Given the description of an element on the screen output the (x, y) to click on. 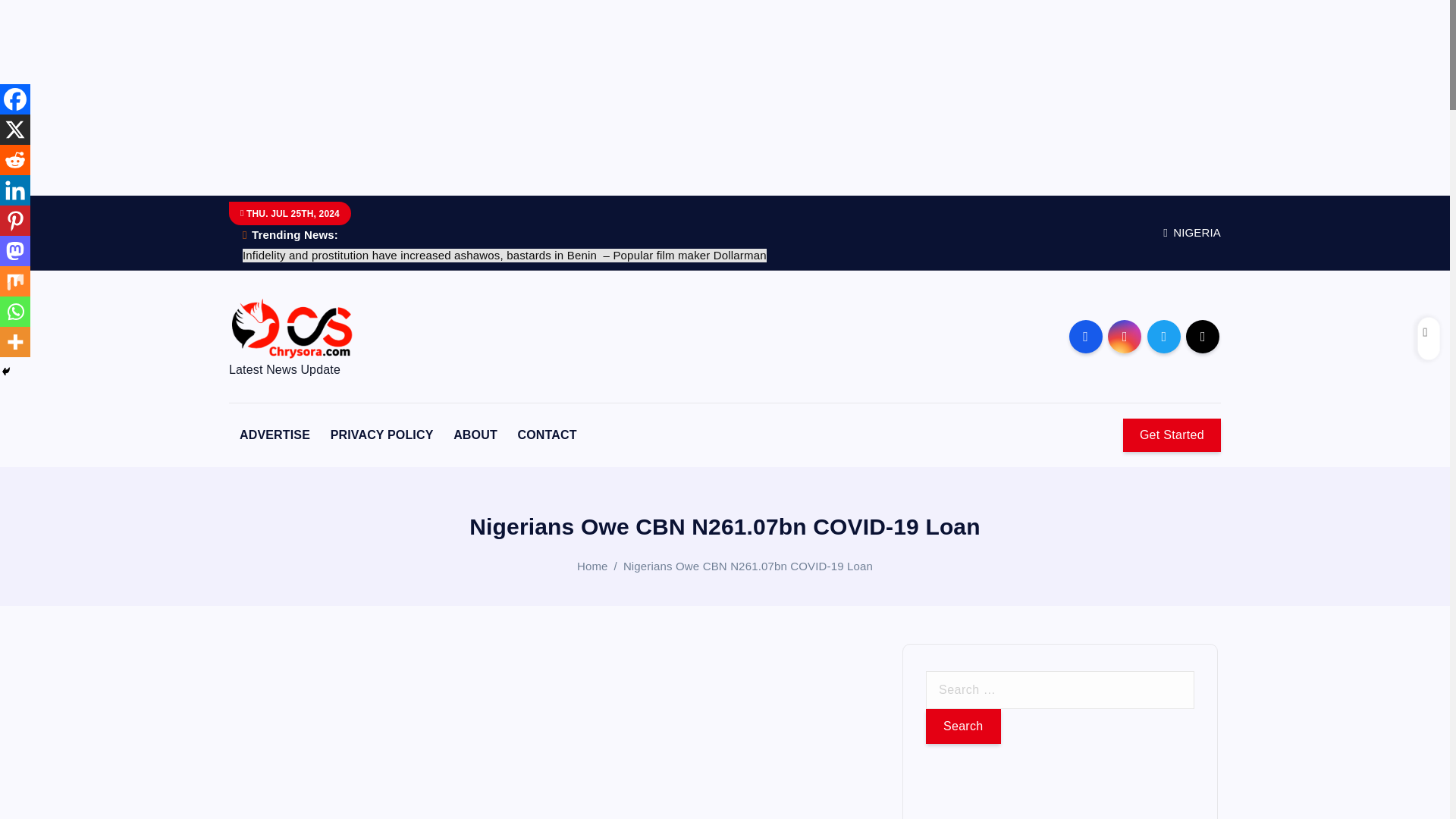
PRIVACY POLICY (382, 434)
Search (963, 726)
ADVERTISE (274, 434)
Get Started (1171, 435)
ABOUT (475, 434)
ABOUT (475, 434)
CONTACT (546, 434)
Search (963, 726)
CONTACT (546, 434)
PRIVACY POLICY (382, 434)
ADVERTISE (274, 434)
Nigerians Owe CBN N261.07bn COVID-19 Loan (747, 565)
Home (592, 565)
